Given the description of an element on the screen output the (x, y) to click on. 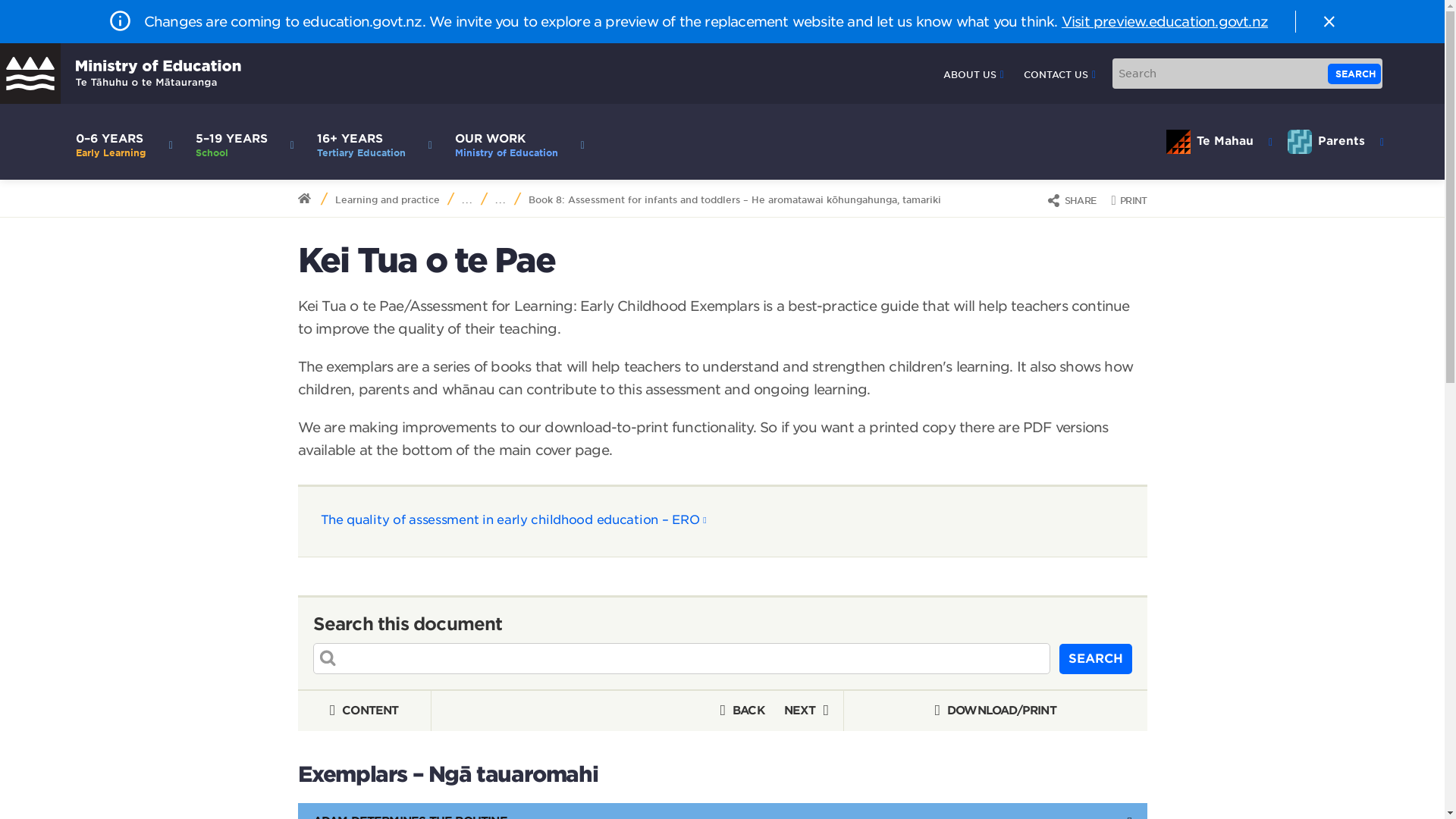
Link to Ministry of Education New Zealand home page. (120, 73)
SEARCH (1353, 73)
Visit preview.education.govt.nz (1164, 21)
PRINT (1128, 201)
Parents (1335, 141)
CONTACT US (1059, 74)
Te Mahau (1219, 141)
Our work - Ministry of Education (515, 141)
Link to Parents website (515, 141)
